Given the description of an element on the screen output the (x, y) to click on. 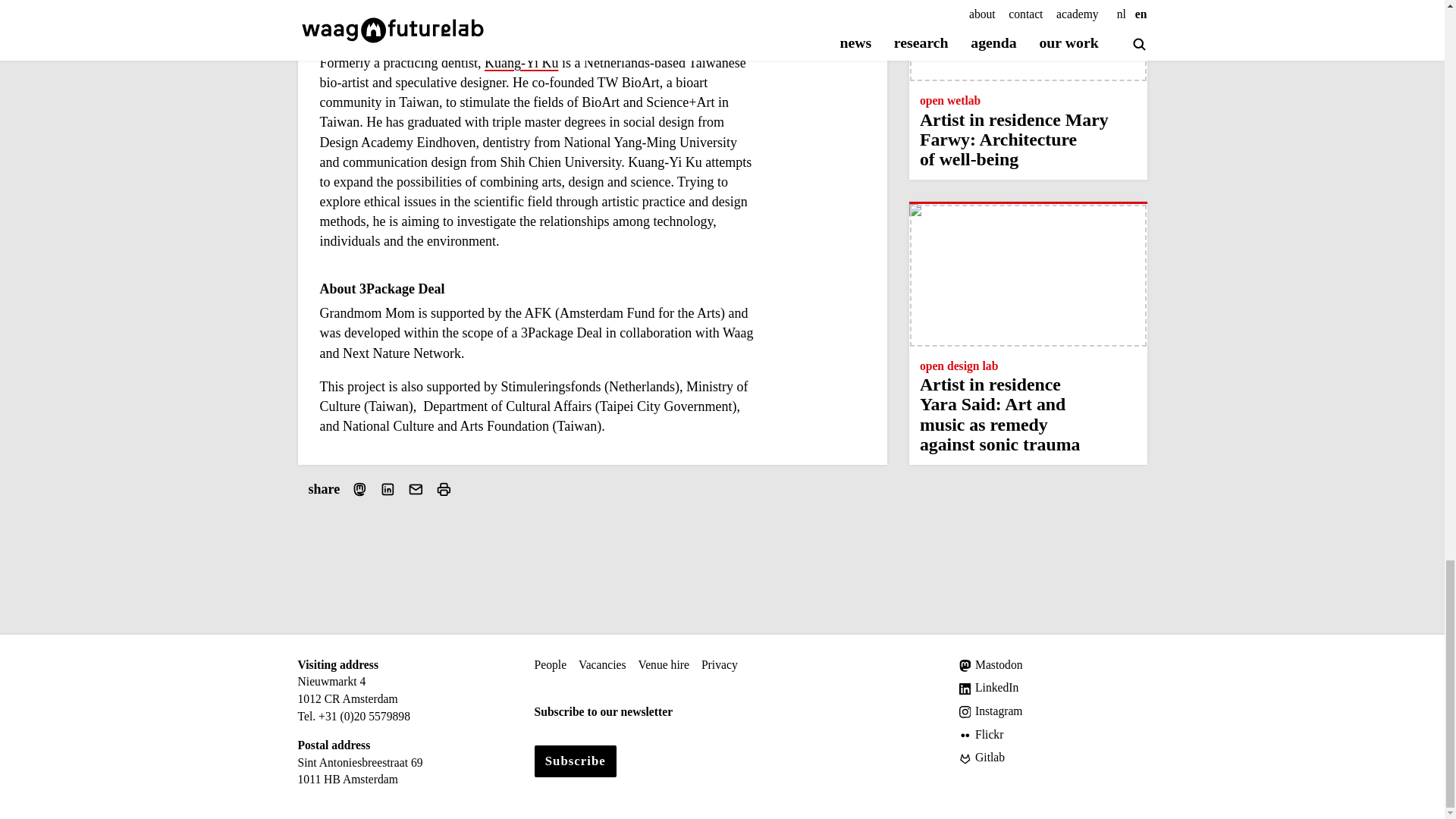
People (550, 665)
Flickr (1052, 734)
Subscribe (574, 761)
Mastodon (1052, 665)
Share on Mastodon (360, 489)
Share on LinkedIn (388, 489)
LinkedIn (1052, 687)
Gitlab (1052, 757)
Share via e-mail (415, 489)
Privacy (719, 665)
Venue hire (663, 665)
Instagram (1052, 711)
Kuang-Yi Ku (521, 63)
Print (443, 489)
